Given the description of an element on the screen output the (x, y) to click on. 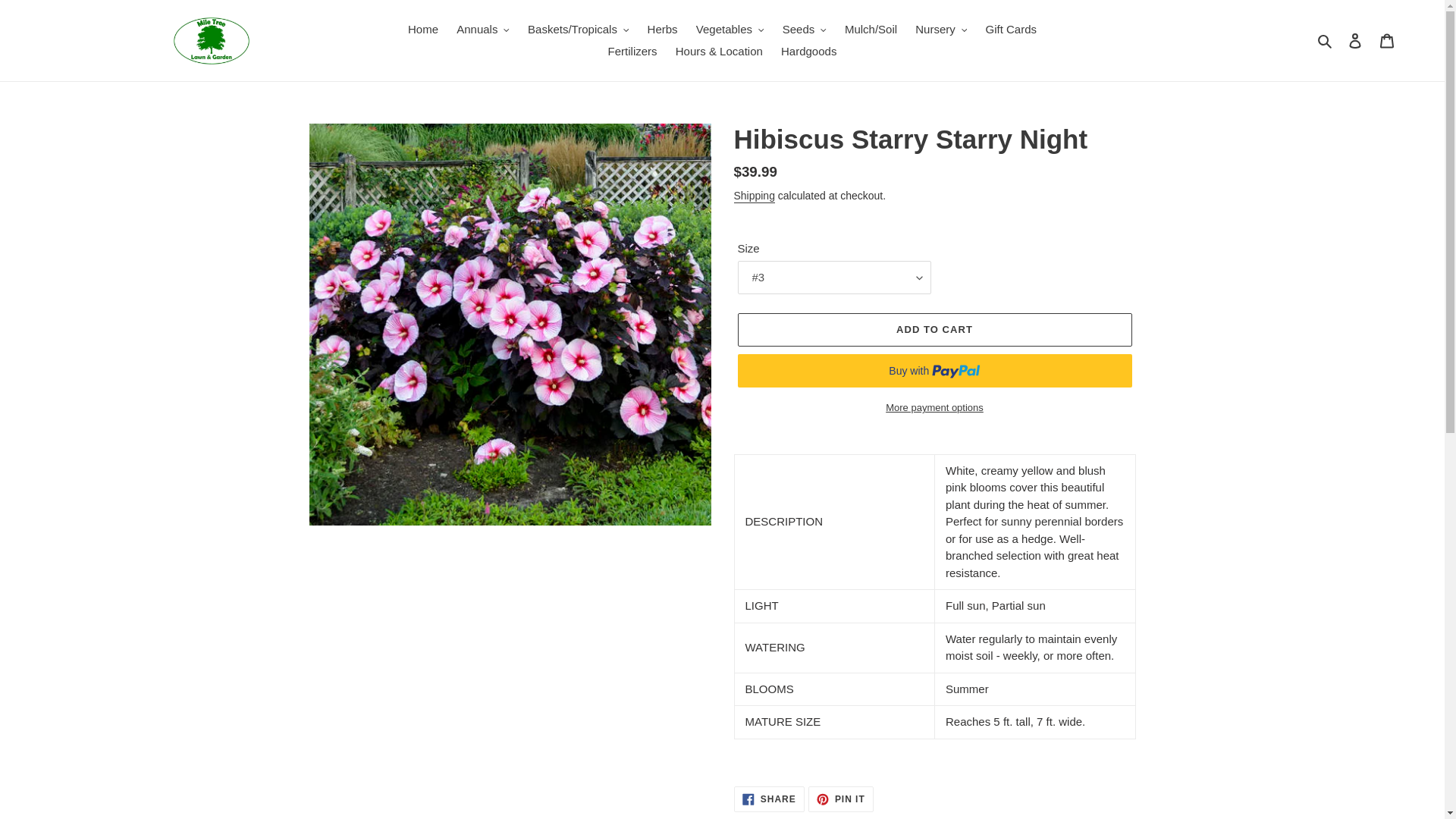
Annuals (482, 29)
Home (422, 29)
Vegetables (729, 29)
Herbs (662, 29)
Nursery (940, 29)
Seeds (804, 29)
